Given the description of an element on the screen output the (x, y) to click on. 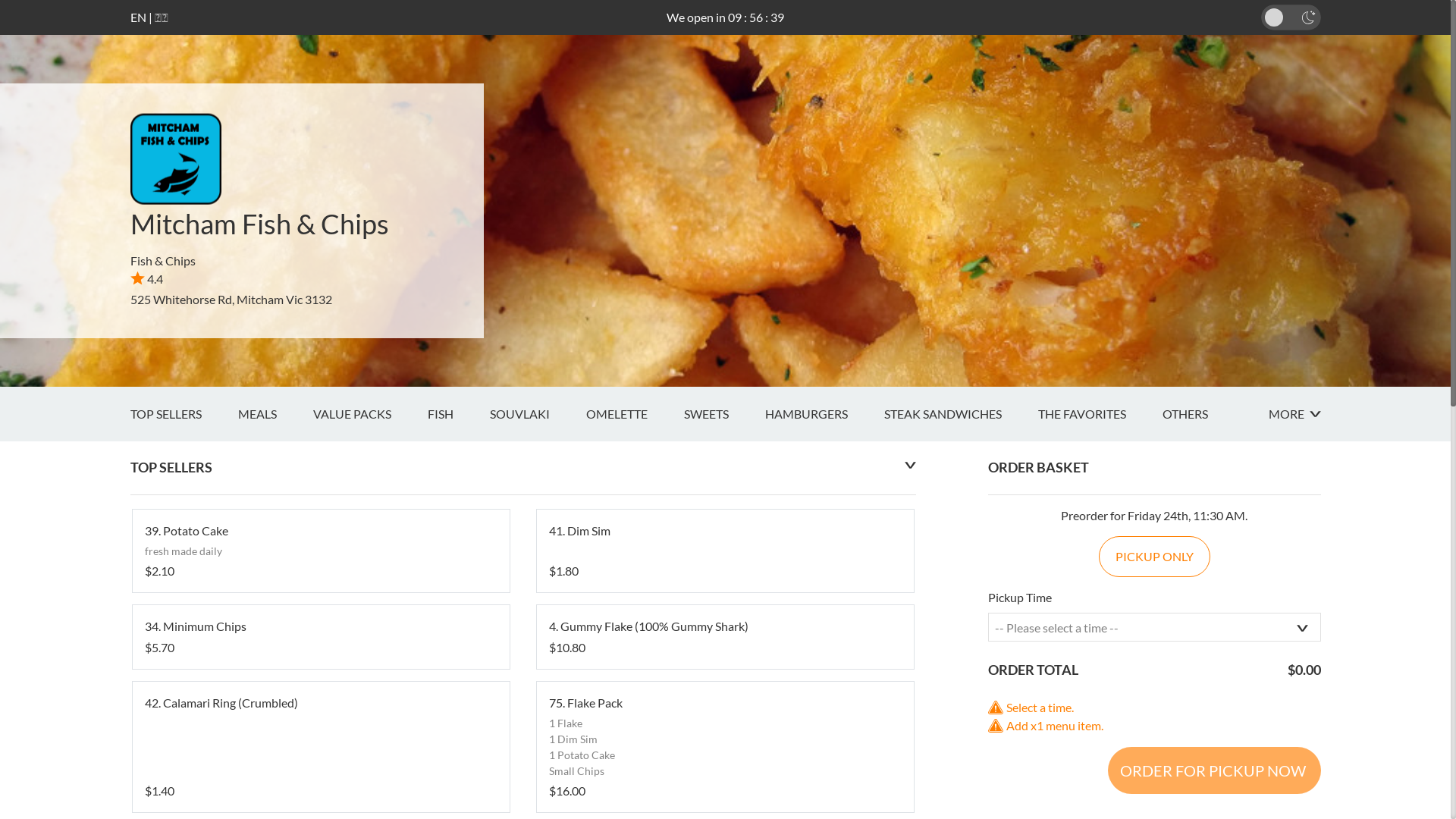
41. Dim Sim
$1.80 Element type: text (725, 550)
OTHERS Element type: text (1202, 413)
Mitcham Fish & Chips Element type: text (259, 223)
39. Potato Cake
fresh made daily
$2.10 Element type: text (320, 550)
42. Calamari Ring (Crumbled)
$1.40 Element type: text (320, 746)
TOP SELLERS Element type: text (184, 413)
FISH Element type: text (458, 413)
THE FAVORITES Element type: text (1099, 413)
42. Calamari Ring (Crumbled)
$1.40 Element type: text (320, 746)
4. Gummy Flake (100% Gummy Shark)
$10.80 Element type: text (725, 636)
SOUVLAKI Element type: text (537, 413)
34. Minimum Chips
$5.70 Element type: text (320, 636)
34. Minimum Chips
$5.70 Element type: text (320, 636)
ORDER FOR PICKUP NOW  Element type: text (1213, 769)
EN Element type: text (138, 16)
OMELETTE Element type: text (634, 413)
4. Gummy Flake (100% Gummy Shark)
$10.80 Element type: text (725, 636)
VALUE PACKS Element type: text (369, 413)
HAMBURGERS Element type: text (823, 413)
4.4 Element type: text (146, 278)
MEALS Element type: text (275, 413)
39. Potato Cake
fresh made daily
$2.10 Element type: text (320, 550)
STEAK SANDWICHES Element type: text (961, 413)
41. Dim Sim
$1.80 Element type: text (725, 550)
PICKUP ONLY Element type: text (1154, 556)
MORE Element type: text (1293, 413)
SWEETS Element type: text (724, 413)
